Given the description of an element on the screen output the (x, y) to click on. 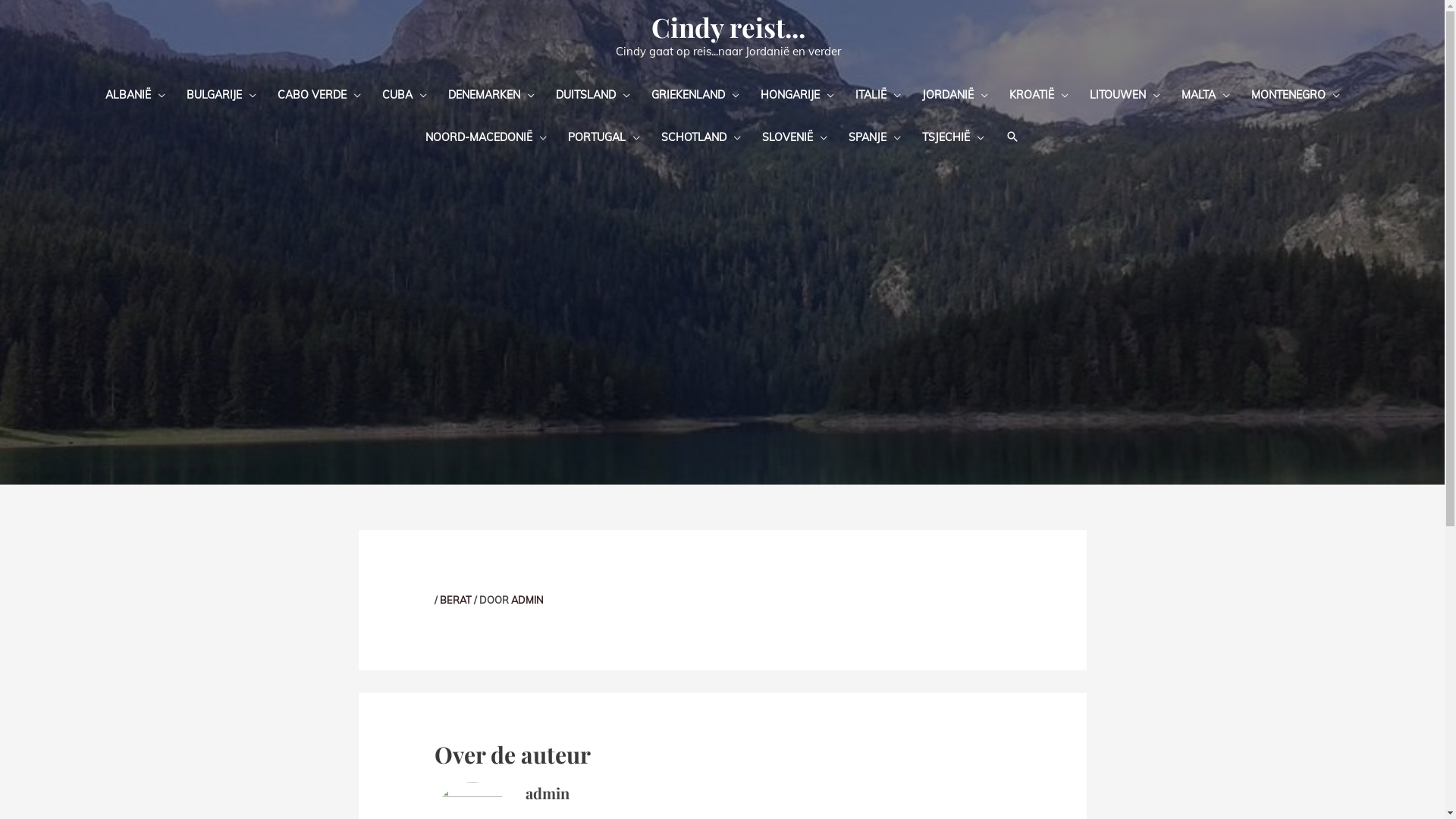
HONGARIJE Element type: text (796, 93)
CABO VERDE Element type: text (318, 93)
MONTENEGRO Element type: text (1295, 93)
ZOEKEN Element type: text (1012, 136)
SPANJE Element type: text (874, 136)
GRIEKENLAND Element type: text (694, 93)
PORTUGAL Element type: text (603, 136)
DUITSLAND Element type: text (592, 93)
LITOUWEN Element type: text (1124, 93)
MALTA Element type: text (1205, 93)
DENEMARKEN Element type: text (490, 93)
BERAT Element type: text (455, 599)
ADMIN Element type: text (527, 599)
Cindy reist... Element type: text (728, 26)
CUBA Element type: text (404, 93)
SCHOTLAND Element type: text (700, 136)
BULGARIJE Element type: text (220, 93)
admin Element type: text (547, 792)
